Given the description of an element on the screen output the (x, y) to click on. 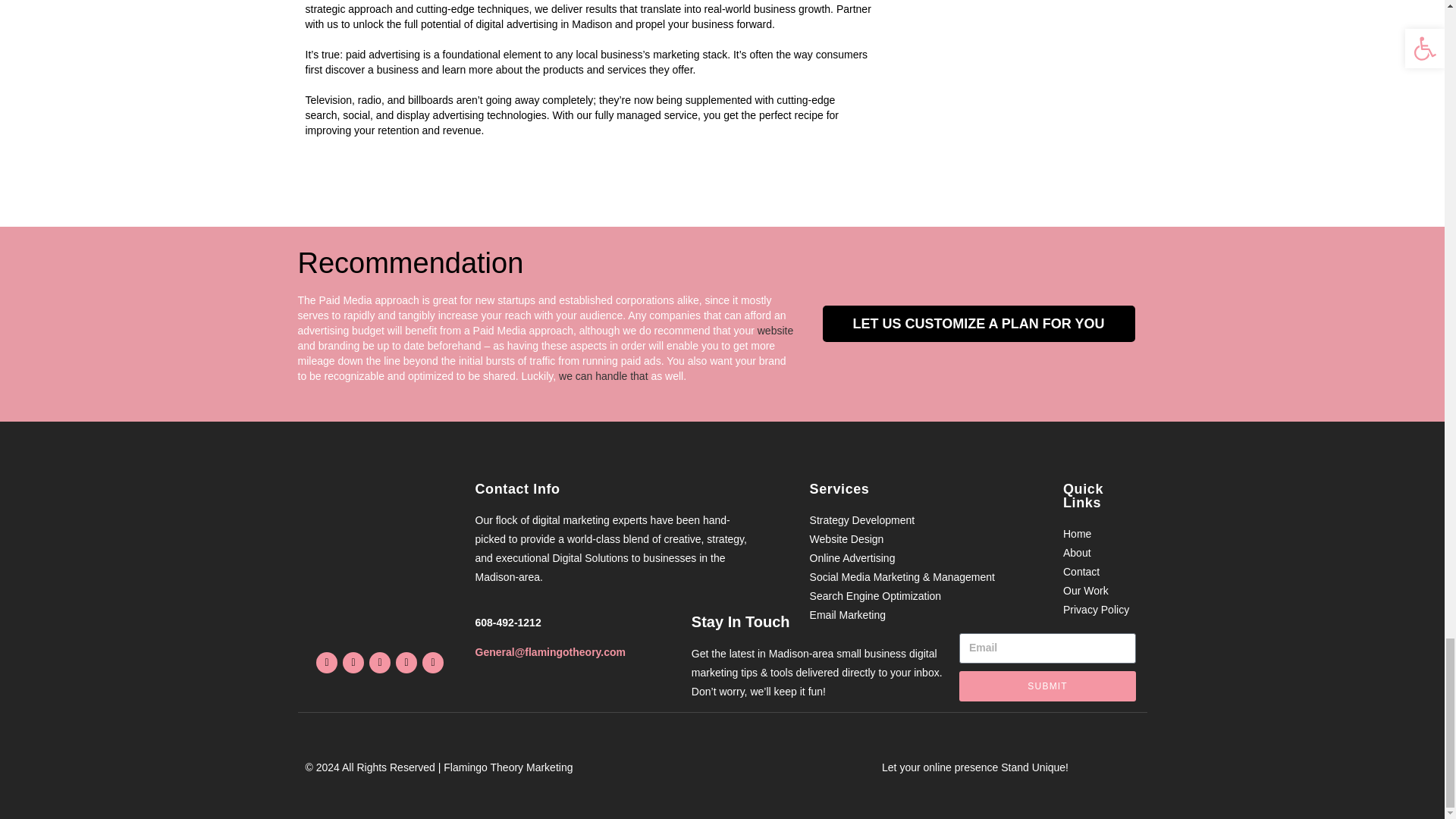
website (775, 330)
we can handle that (603, 376)
LET US CUSTOMIZE A PLAN FOR YOU (978, 323)
